Given the description of an element on the screen output the (x, y) to click on. 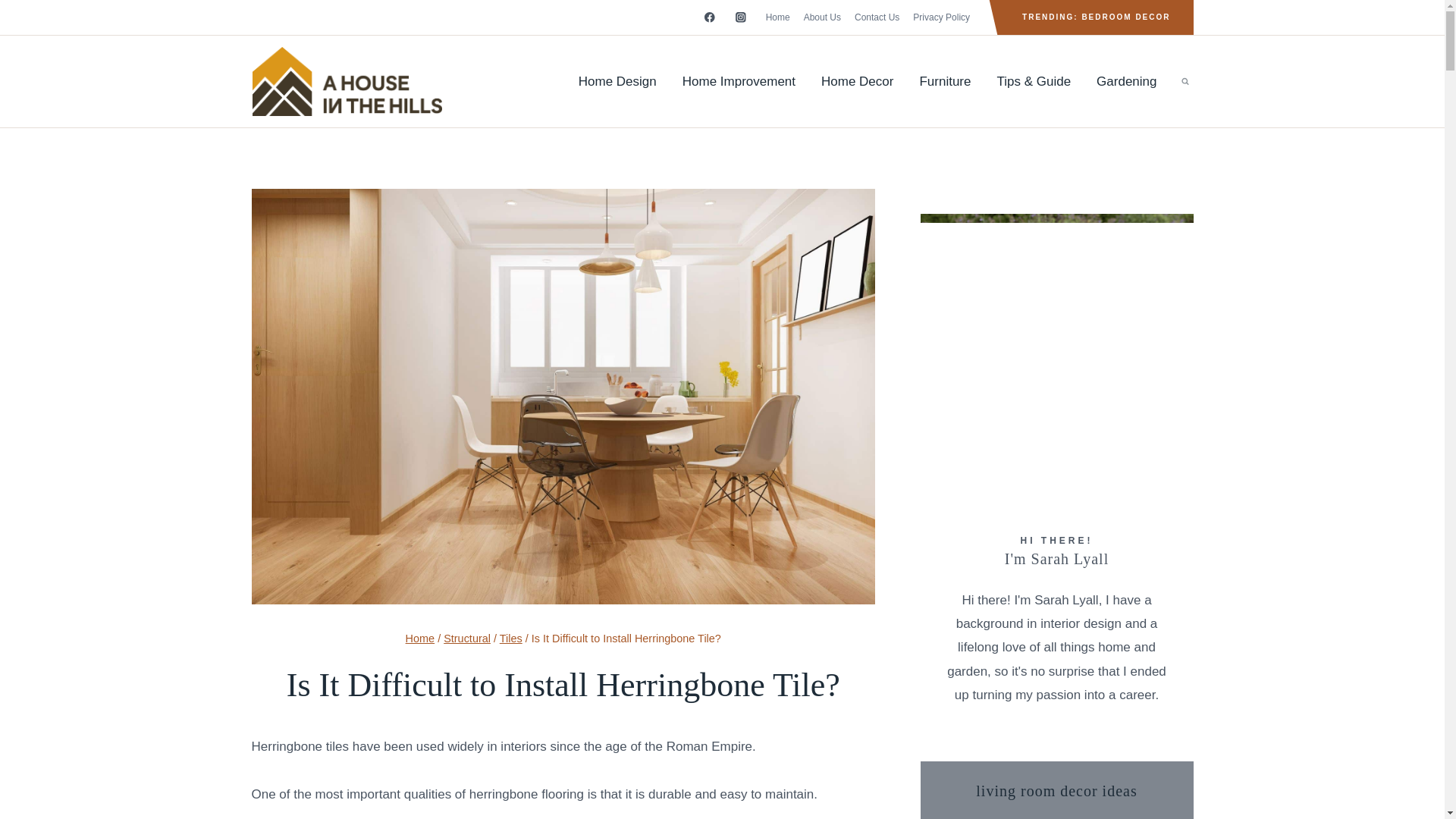
Furniture (944, 81)
Home (420, 638)
About Us (821, 17)
Home Decor (856, 81)
Tiles (510, 638)
Home (777, 17)
Contact Us (876, 17)
Home Design (617, 81)
TRENDING: BEDROOM DECOR (1095, 17)
Privacy Policy (940, 17)
Structural (467, 638)
Gardening (1126, 81)
Home Improvement (738, 81)
